Given the description of an element on the screen output the (x, y) to click on. 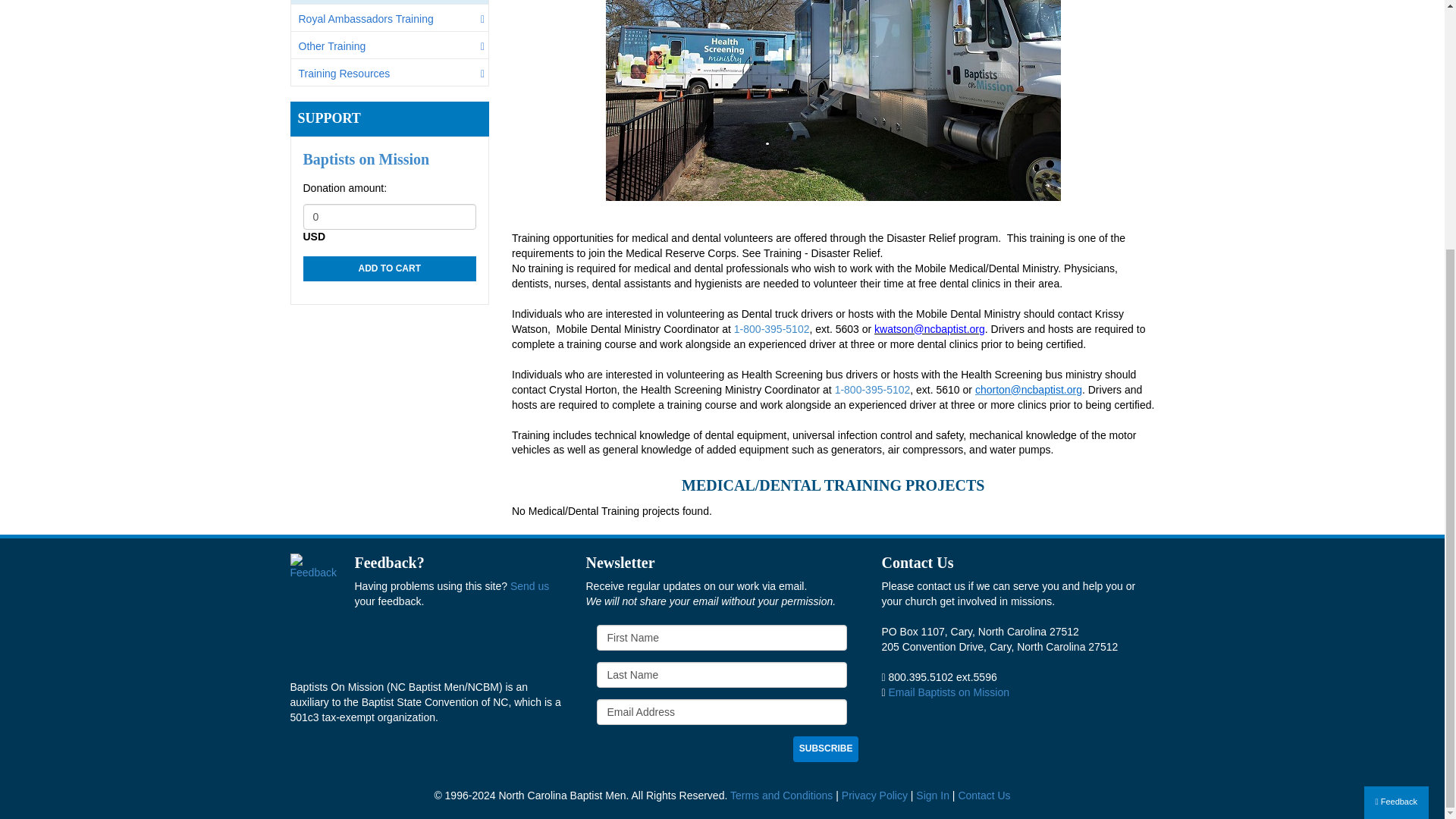
Email Address (721, 711)
0 (389, 216)
Subscribe (826, 748)
First Name (721, 637)
Last Name (721, 674)
